Given the description of an element on the screen output the (x, y) to click on. 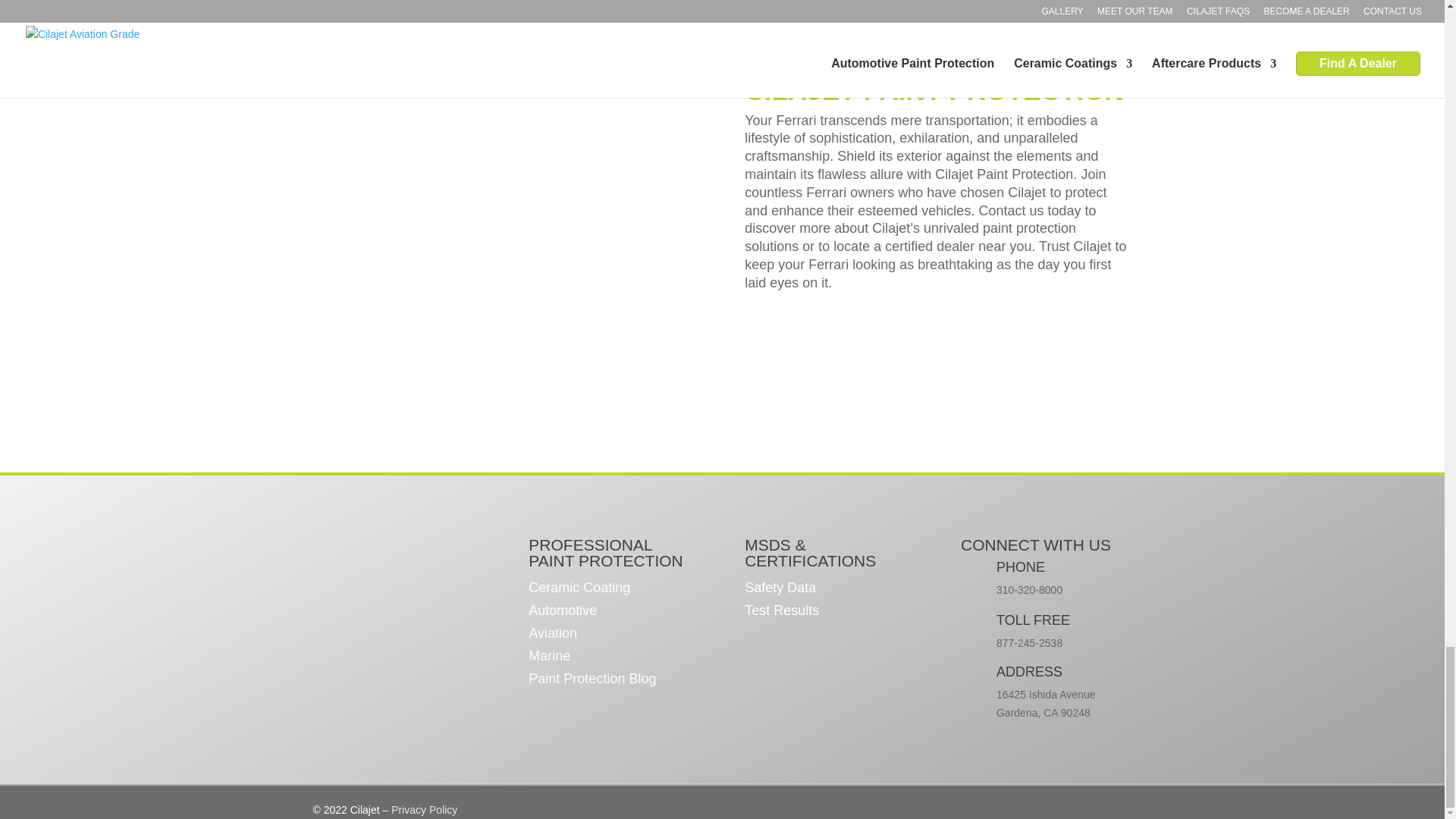
Automotive (562, 613)
Ceramic Coating (579, 590)
Safety Data (779, 590)
Aviation (552, 636)
Paint Protection Blog (592, 681)
Test Results (781, 613)
Marine (549, 658)
Privacy Policy (424, 809)
